Given the description of an element on the screen output the (x, y) to click on. 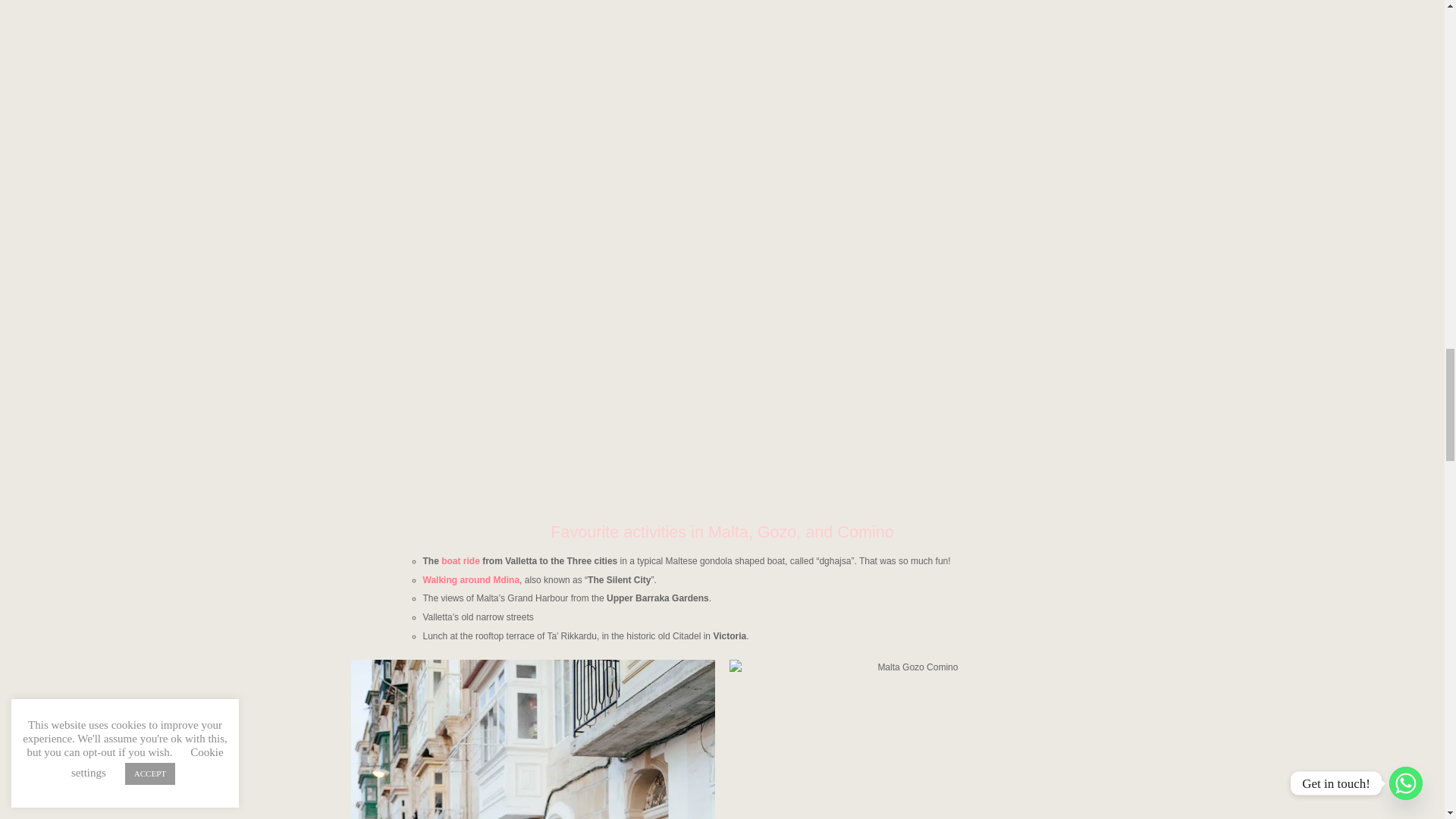
Malta Gozo Comino (911, 739)
The Viennese Girl travel blog from Vienna (532, 739)
